Given the description of an element on the screen output the (x, y) to click on. 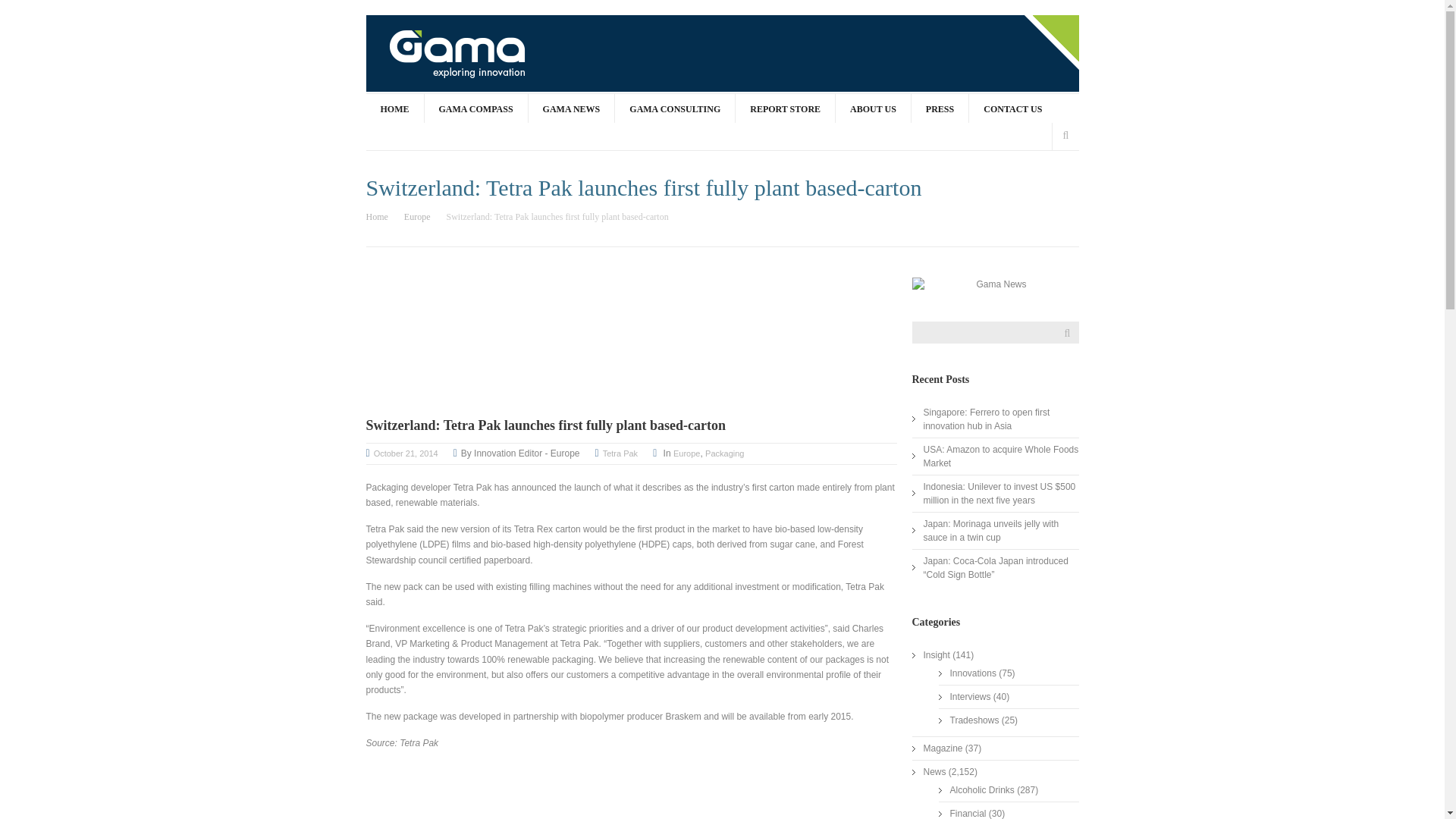
Pinterest (903, 49)
LinkedIn (960, 49)
Tetra Pak (619, 452)
Home (383, 216)
Insight (936, 654)
News (934, 771)
Europe (686, 452)
GAMA NEWS (570, 108)
October 21, 2014 (406, 452)
Magazine (942, 748)
Packaging (724, 452)
PRESS (939, 108)
GAMA COMPASS (475, 108)
Twitter (874, 49)
Issuu (931, 49)
